Given the description of an element on the screen output the (x, y) to click on. 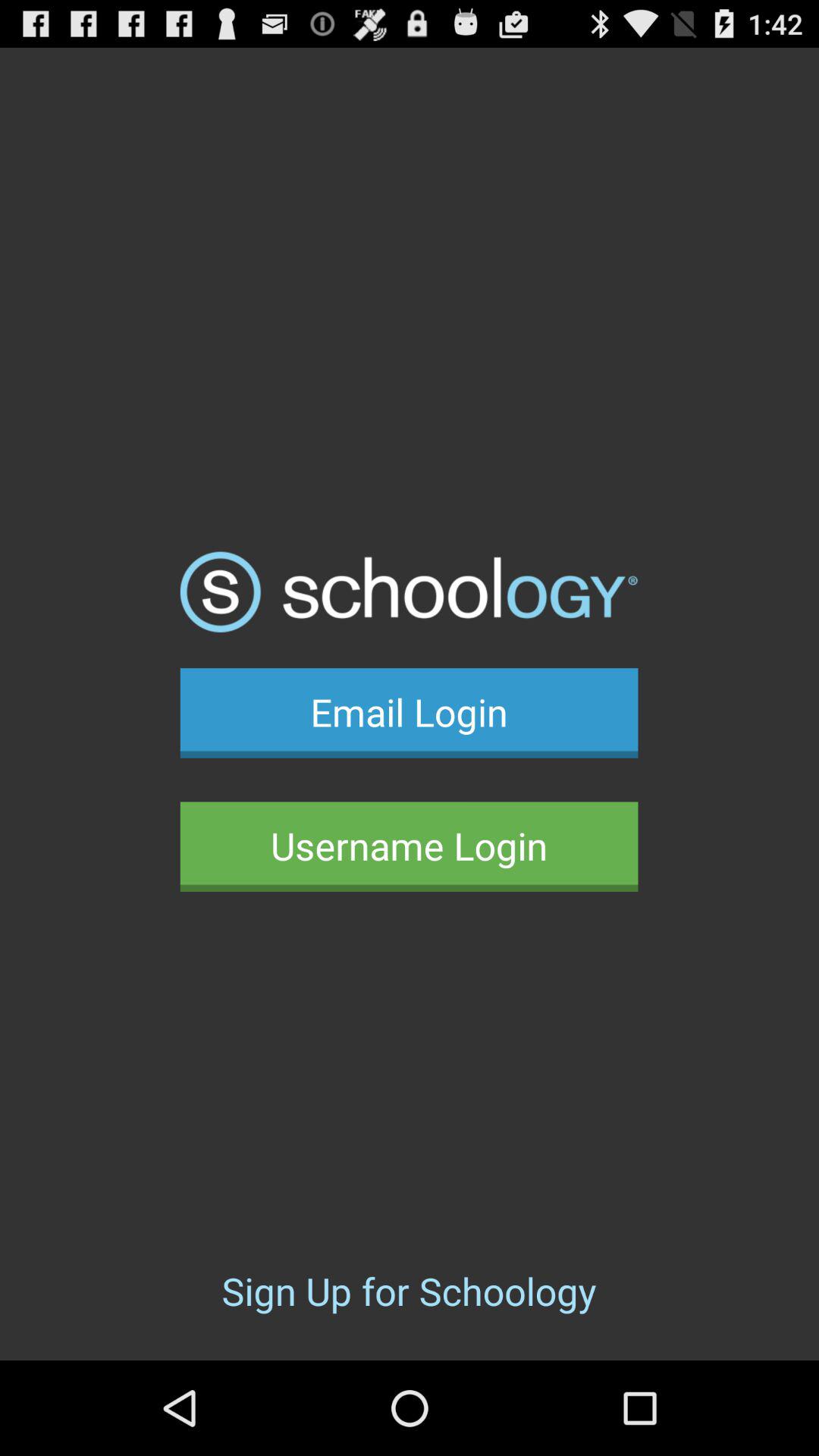
press the email login (409, 713)
